Given the description of an element on the screen output the (x, y) to click on. 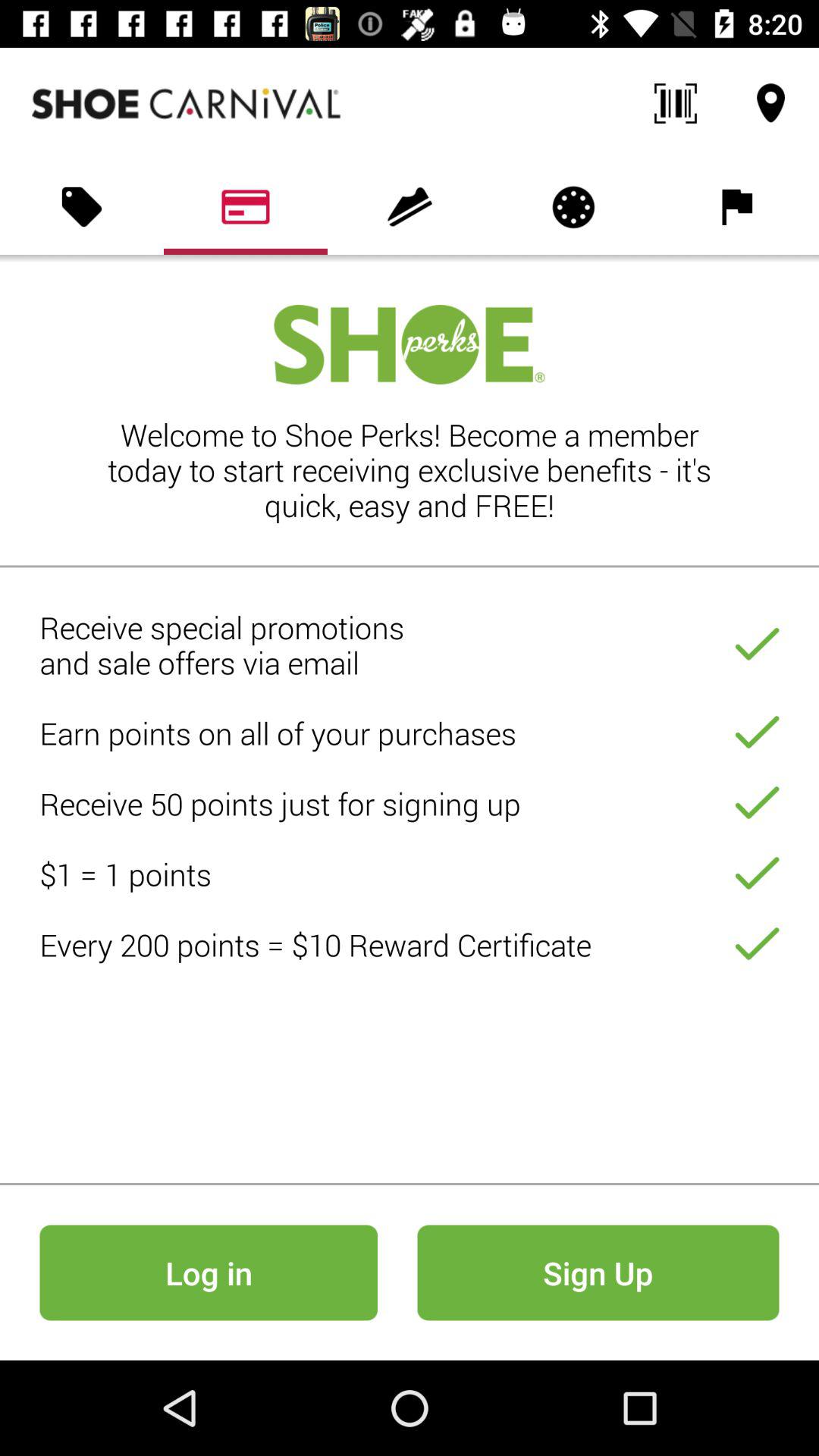
turn on the log in (208, 1272)
